Given the description of an element on the screen output the (x, y) to click on. 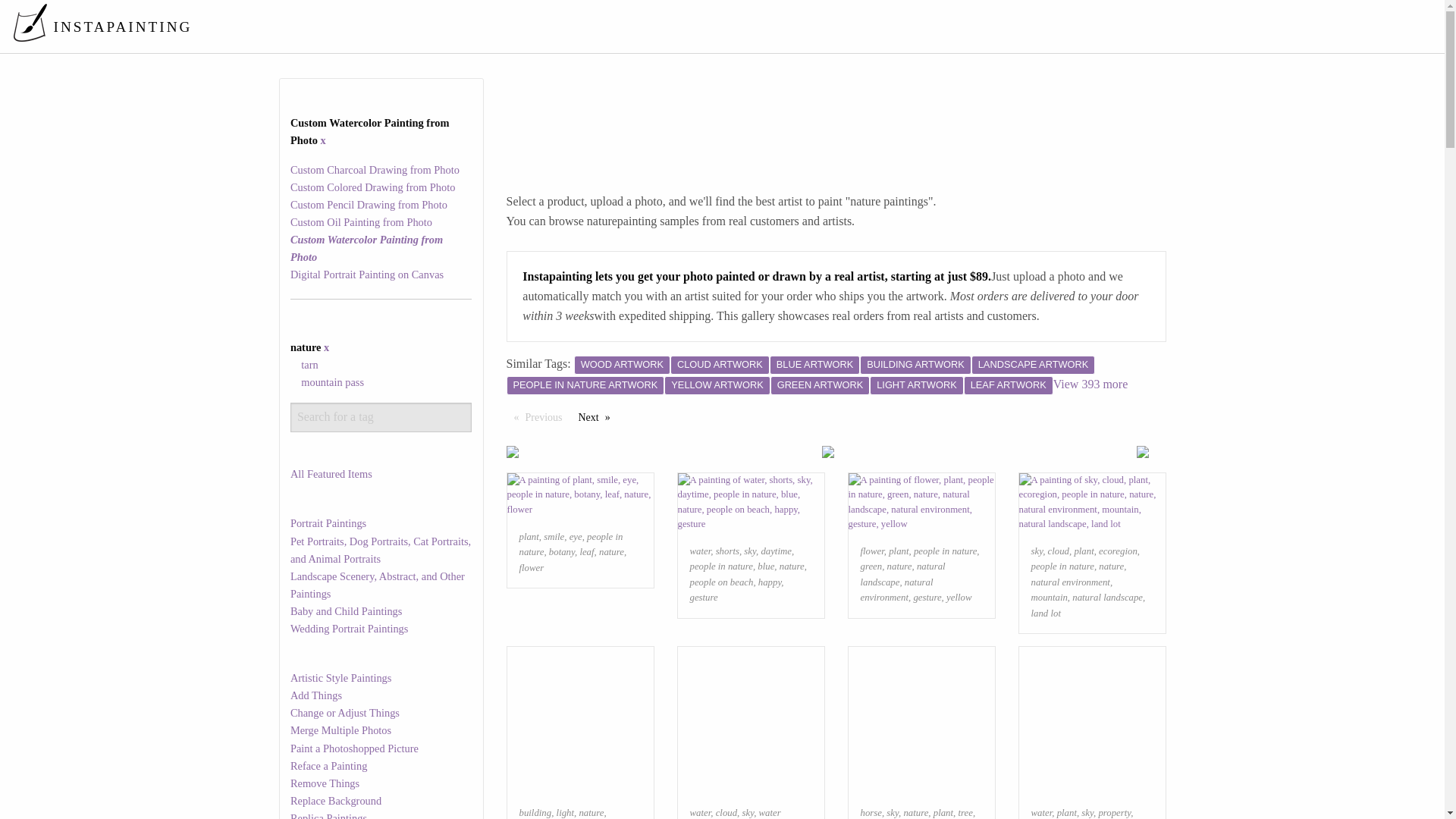
INSTAPAINTING (102, 26)
